Given the description of an element on the screen output the (x, y) to click on. 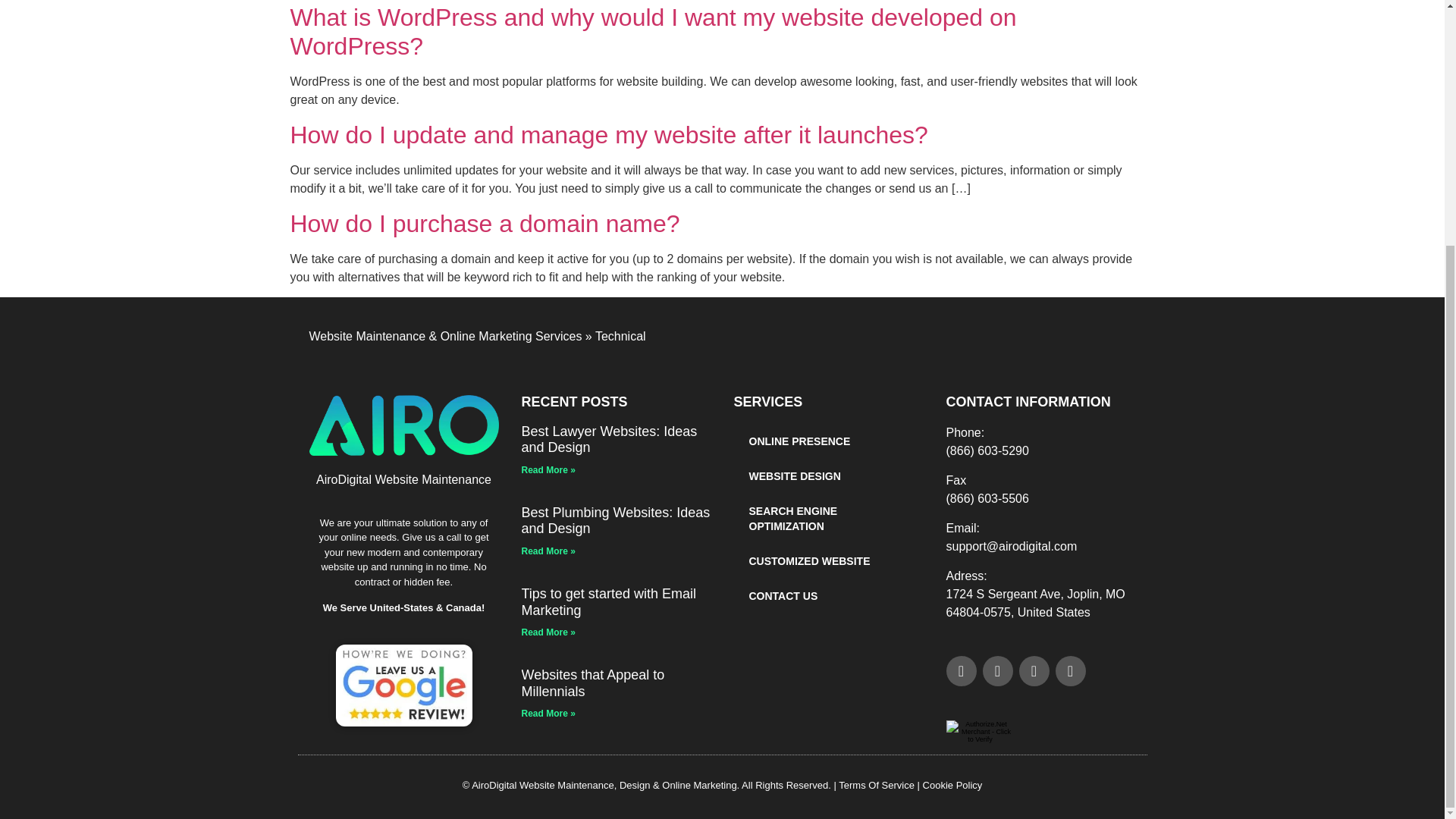
Homepage Link (403, 425)
Yelp Link (1070, 671)
Instagram Link (997, 671)
Google Search Link (1034, 671)
Facebook Link (961, 671)
Google Reviews (404, 685)
